Given the description of an element on the screen output the (x, y) to click on. 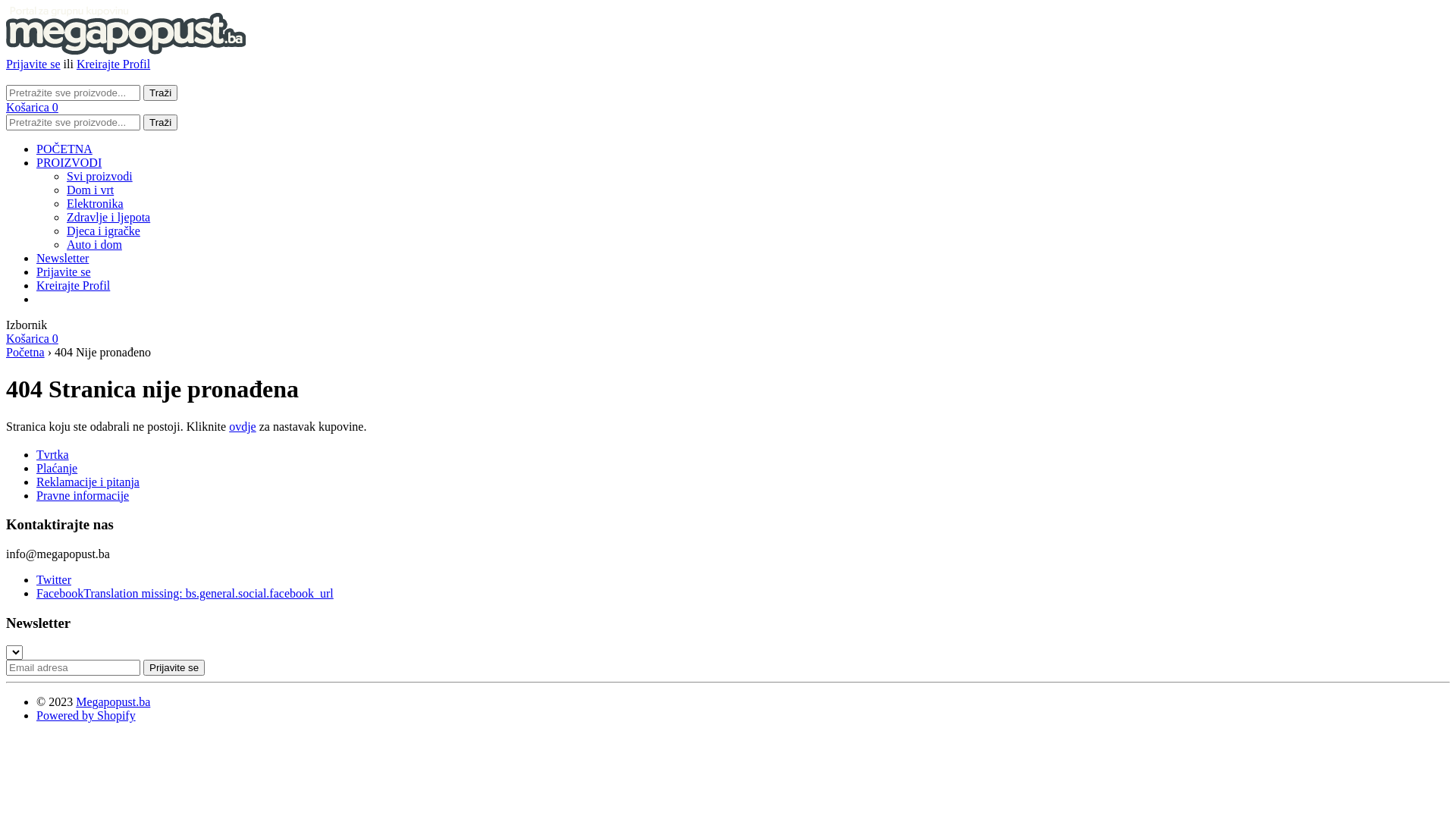
Auto i dom Element type: text (94, 244)
Reklamacije i pitanja Element type: text (87, 481)
Kreirajte Profil Element type: text (72, 285)
Pravne informacije Element type: text (82, 495)
Powered by Shopify Element type: text (85, 715)
Zdravlje i ljepota Element type: text (108, 216)
ovdje Element type: text (242, 426)
Izbornik Element type: text (26, 324)
Prijavite se Element type: text (63, 271)
Prijavite se Element type: text (173, 667)
Tvrtka Element type: text (52, 454)
Dom i vrt Element type: text (89, 189)
Svi proizvodi Element type: text (99, 175)
Kreirajte Profil Element type: text (113, 63)
Newsletter Element type: text (62, 257)
Twitter Element type: text (53, 579)
Megapopust.ba Element type: text (112, 701)
Elektronika Element type: text (94, 203)
PROIZVODI Element type: text (68, 162)
FacebookTranslation missing: bs.general.social.facebook_url Element type: text (184, 592)
Prijavite se Element type: text (33, 63)
